Given the description of an element on the screen output the (x, y) to click on. 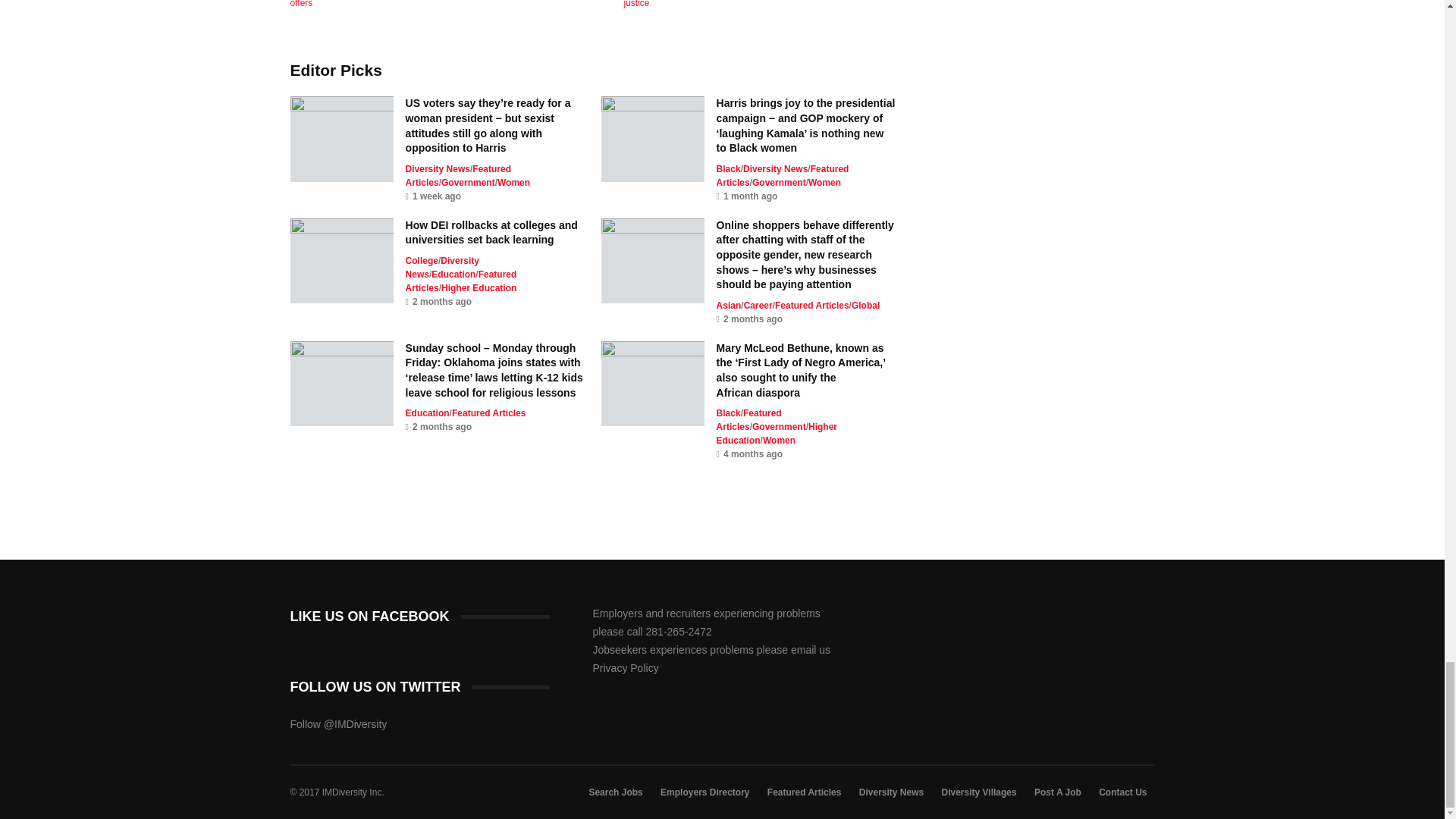
Government (468, 182)
Women (513, 182)
Featured Articles (458, 175)
Privacy Policy (625, 667)
Diversity News (438, 168)
